Given the description of an element on the screen output the (x, y) to click on. 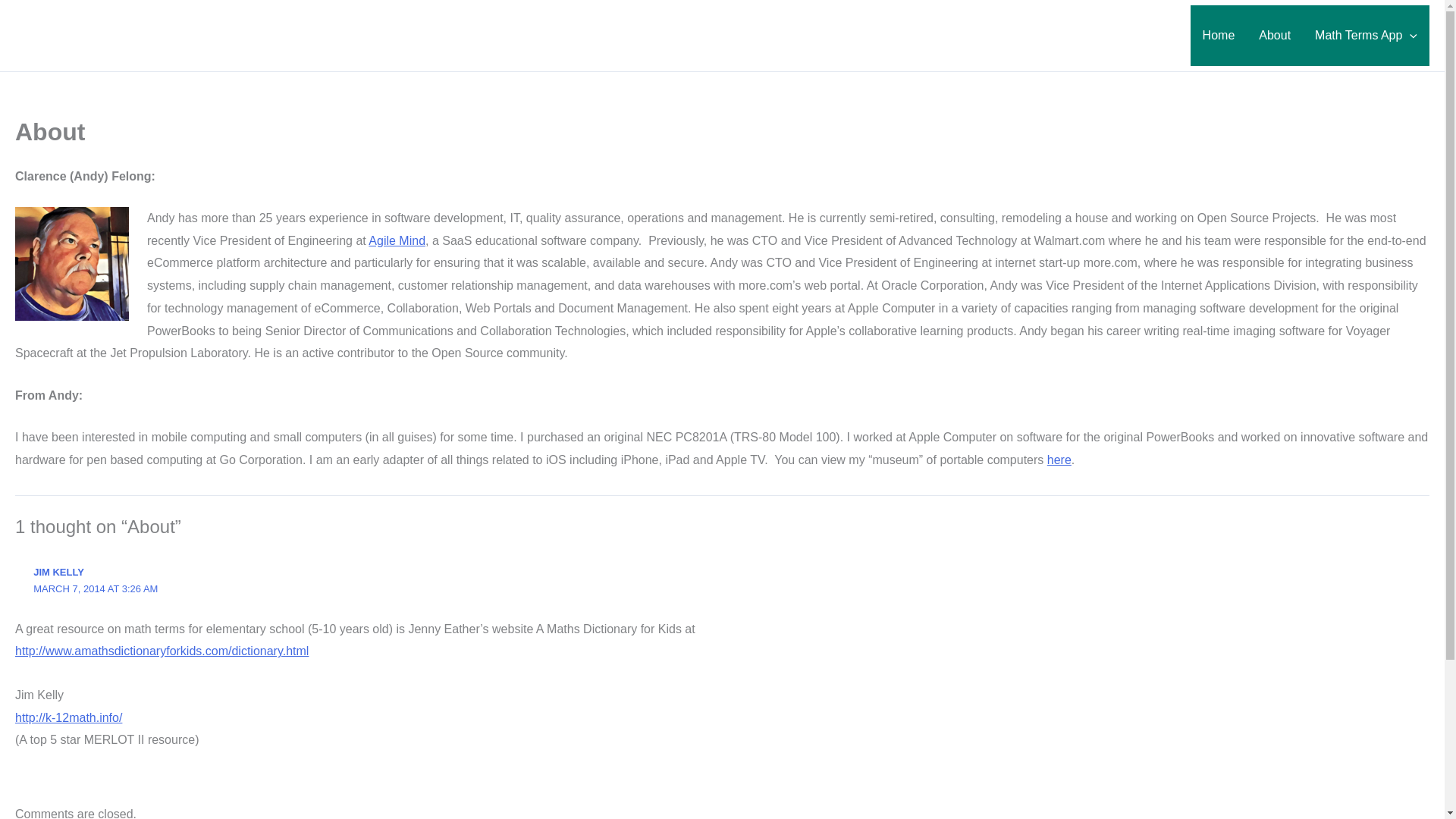
AndyFelong.com (113, 26)
Andy's Wearable Computing Museum (1058, 459)
Home (1219, 35)
here (1058, 459)
About (1274, 35)
MARCH 7, 2014 AT 3:26 AM (95, 588)
Agile Mind (396, 240)
Math Terms App (1366, 35)
JIM KELLY (58, 572)
